Given the description of an element on the screen output the (x, y) to click on. 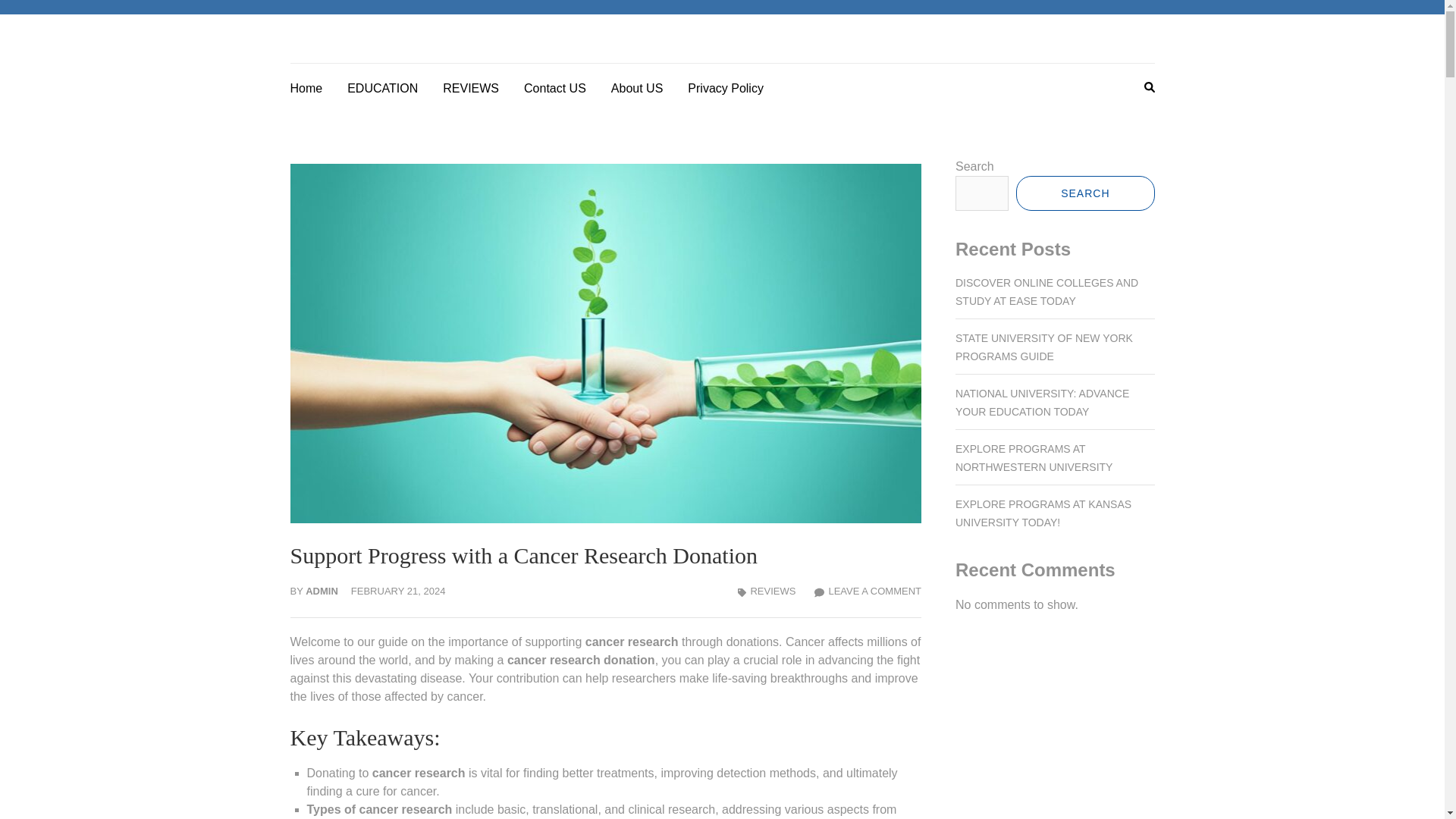
EDUCATION (382, 85)
SEARCH (1085, 193)
FEBRUARY 21, 2024 (397, 591)
EXPLORE PROGRAMS AT KANSAS UNIVERSITY TODAY! (1043, 512)
EXPLORE PROGRAMS AT NORTHWESTERN UNIVERSITY (1033, 458)
DISCOVER ONLINE COLLEGES AND STUDY AT EASE TODAY (1046, 291)
Contact US (555, 85)
NATIONAL UNIVERSITY: ADVANCE YOUR EDUCATION TODAY (1042, 402)
About US (636, 85)
